Given the description of an element on the screen output the (x, y) to click on. 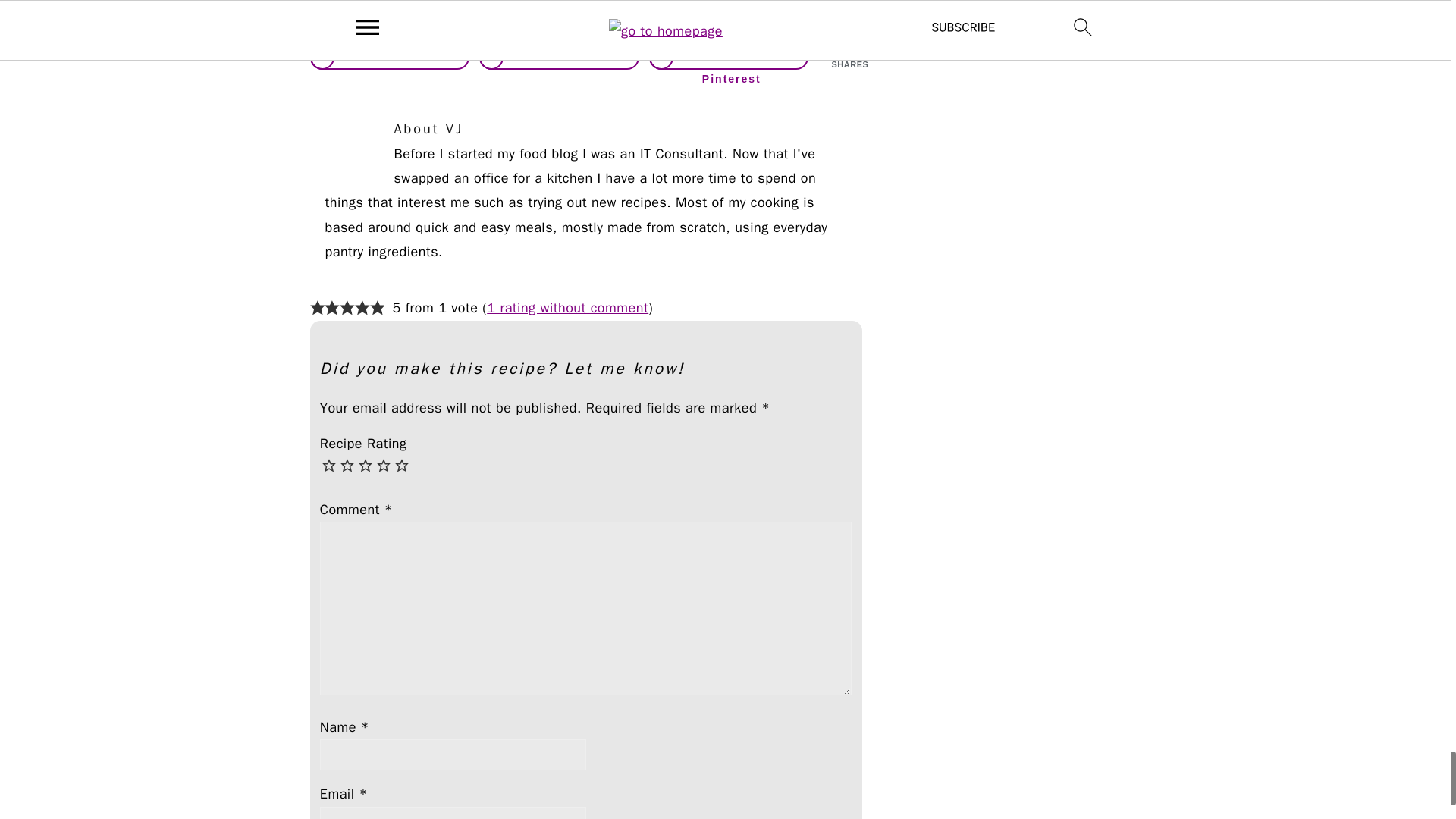
Share on Facebook (388, 57)
Share on X (559, 57)
Save to Pinterest (729, 57)
